Given the description of an element on the screen output the (x, y) to click on. 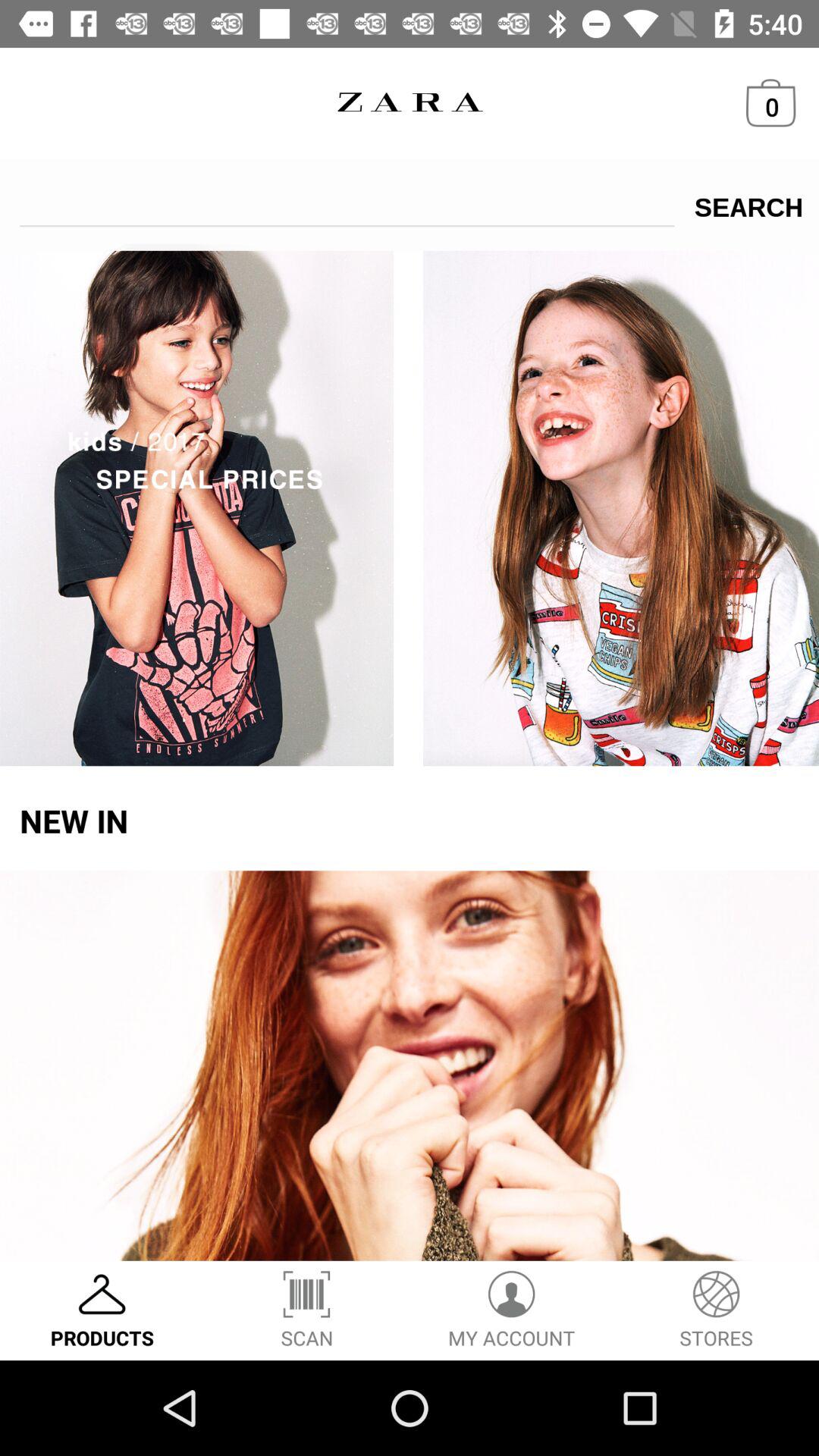
insert search text (346, 201)
